Given the description of an element on the screen output the (x, y) to click on. 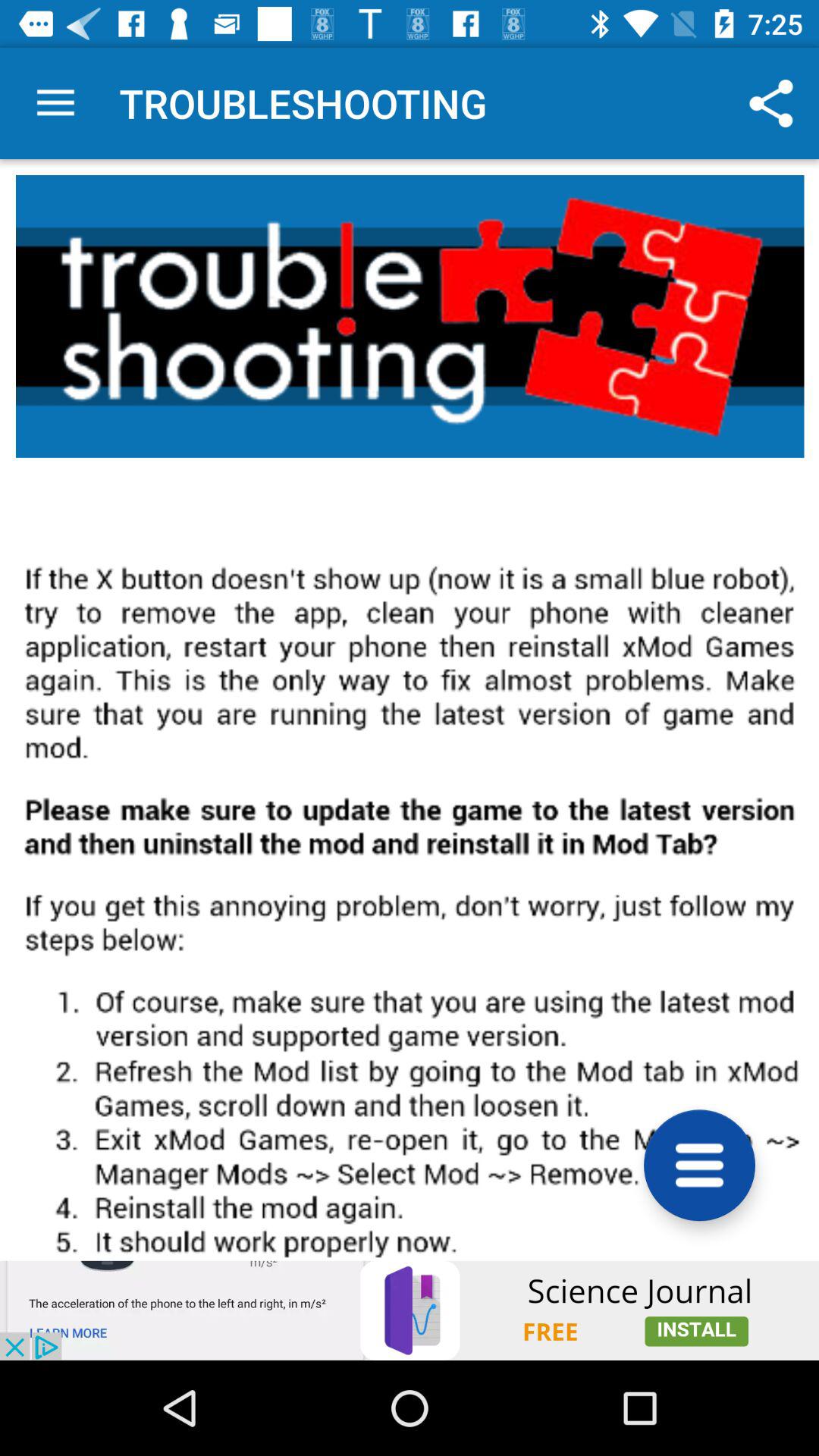
view more (699, 1165)
